Given the description of an element on the screen output the (x, y) to click on. 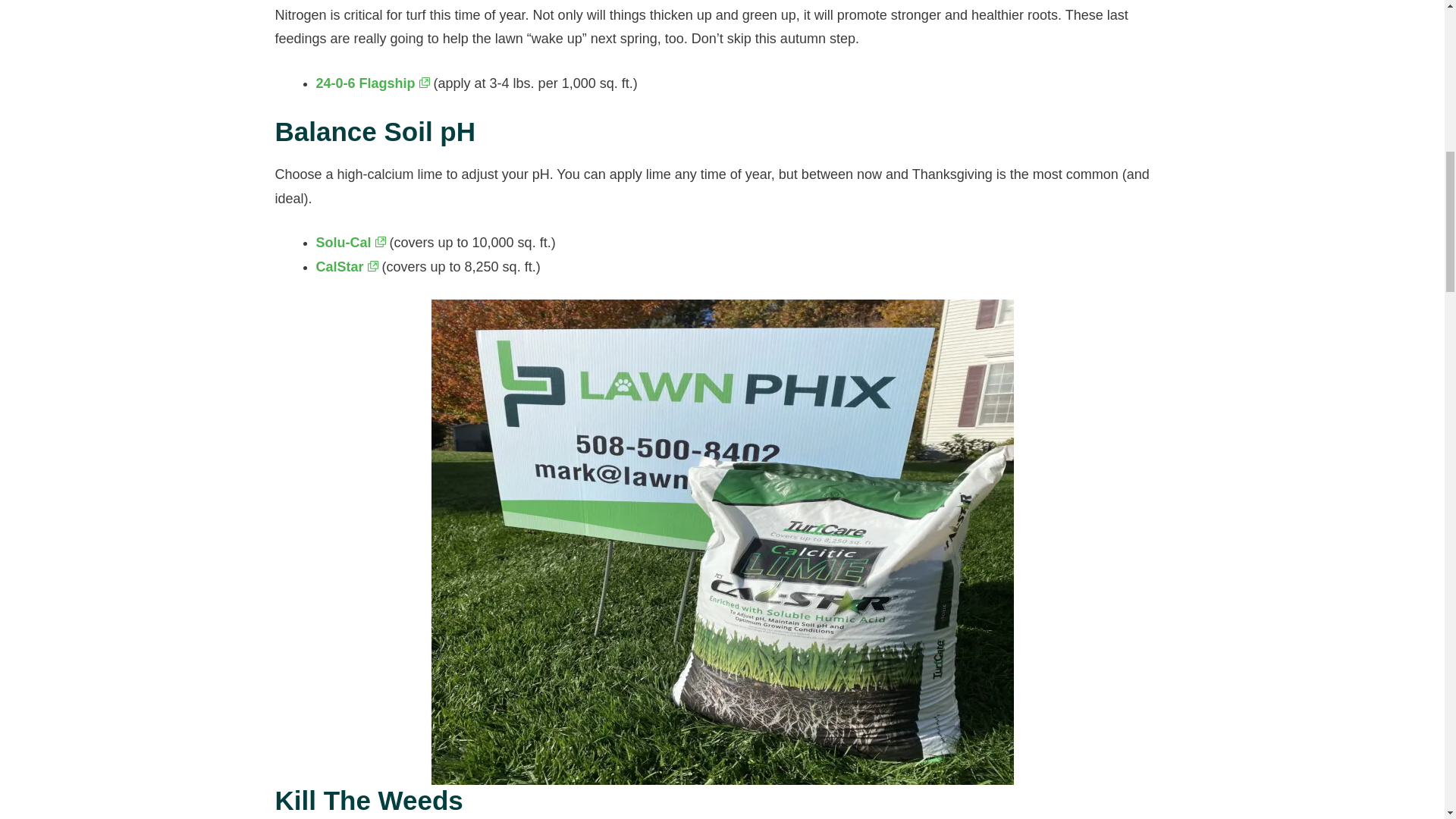
Scroll back to top (1406, 720)
Link to external site. (380, 242)
Link to external site. (424, 83)
24-0-6 Flagship (372, 83)
Solu-Cal (350, 242)
Link to external site. (373, 266)
CalStar (346, 266)
